Given the description of an element on the screen output the (x, y) to click on. 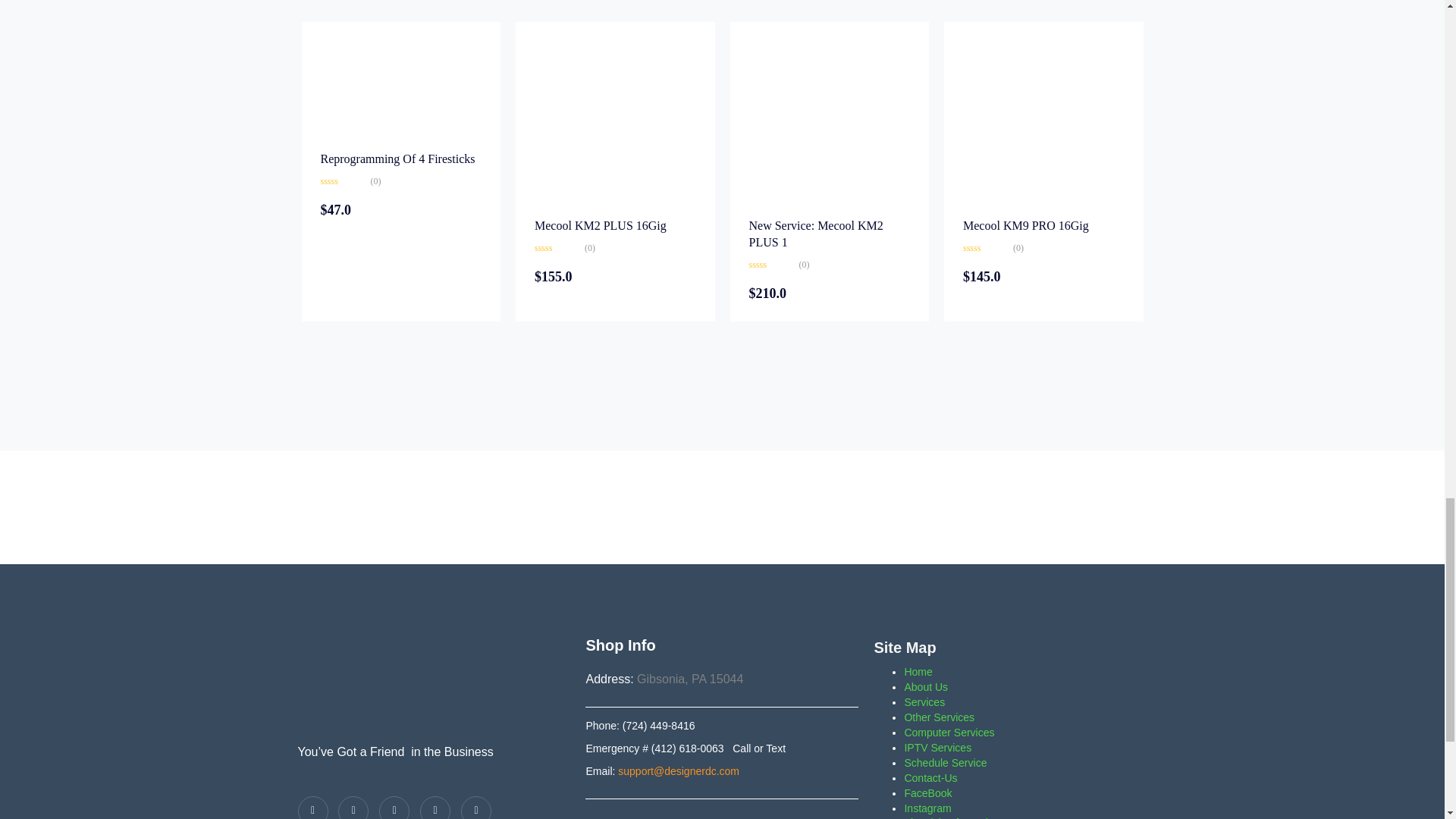
View Product Full Details (614, 120)
View Product Full Details (1043, 120)
View Product Full Details (816, 233)
View Product Full Details (382, 87)
View Product Full Details (1025, 225)
View Product Full Details (830, 120)
View Product Full Details (397, 158)
View Product Full Details (600, 225)
